Given the description of an element on the screen output the (x, y) to click on. 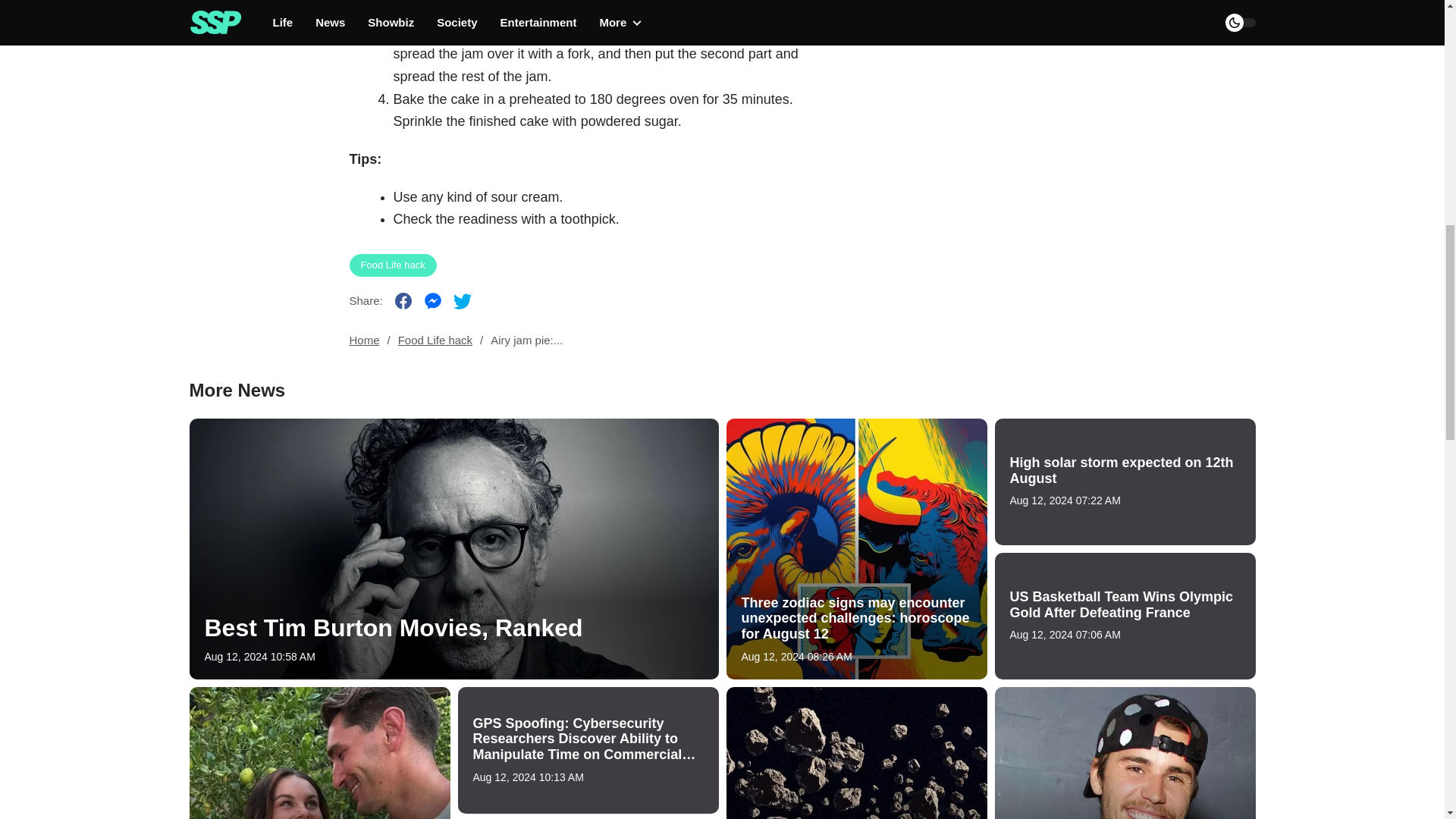
Food Life hack (434, 340)
Food Life hack (392, 264)
Home (363, 340)
